Given the description of an element on the screen output the (x, y) to click on. 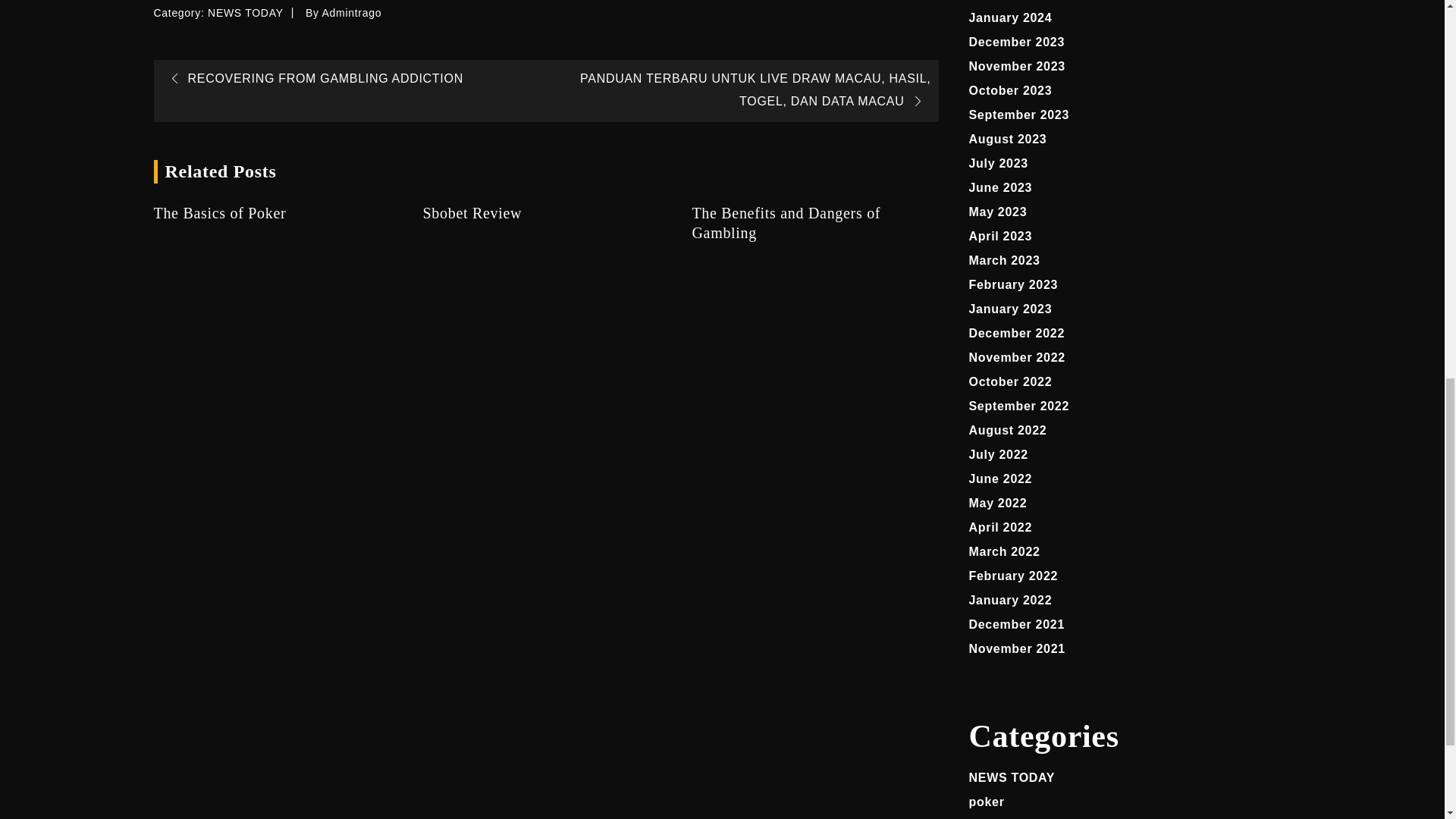
August 2023 (1007, 138)
Admintrago (351, 12)
January 2023 (1010, 308)
February 2023 (1013, 284)
December 2022 (1017, 332)
November 2023 (1017, 65)
September 2022 (1019, 405)
Sbobet Review (545, 212)
NEWS TODAY (245, 12)
The Benefits and Dangers of Gambling (814, 222)
The Basics of Poker (275, 212)
October 2023 (1010, 90)
July 2023 (998, 163)
March 2023 (1005, 259)
